Given the description of an element on the screen output the (x, y) to click on. 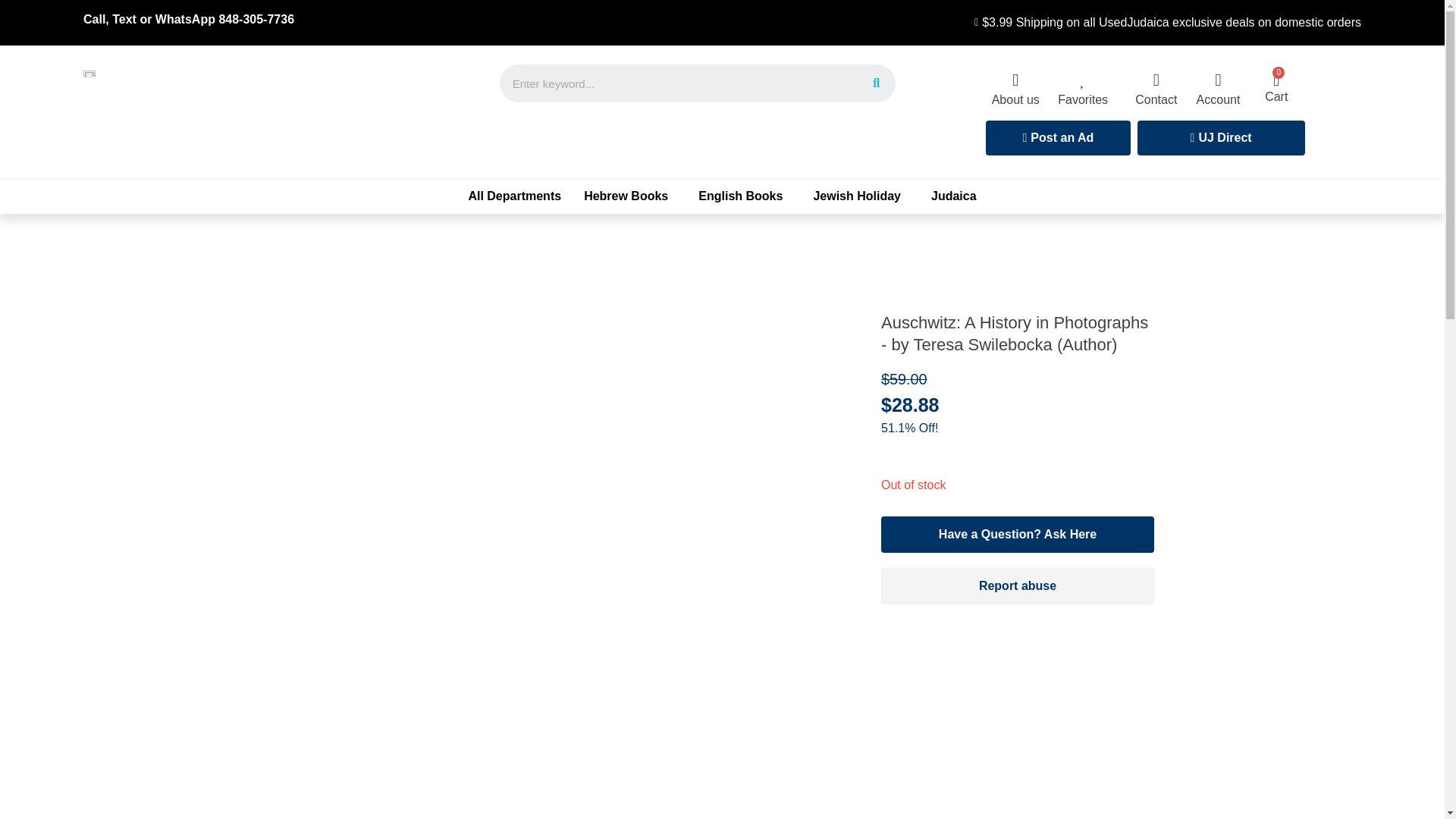
UJ Direct (1220, 137)
Cart (1276, 96)
Account (1218, 99)
Post an Ad (1058, 137)
Search (876, 83)
Search (678, 83)
Contact (1155, 99)
About us (1015, 99)
Favorites (1083, 99)
